Given the description of an element on the screen output the (x, y) to click on. 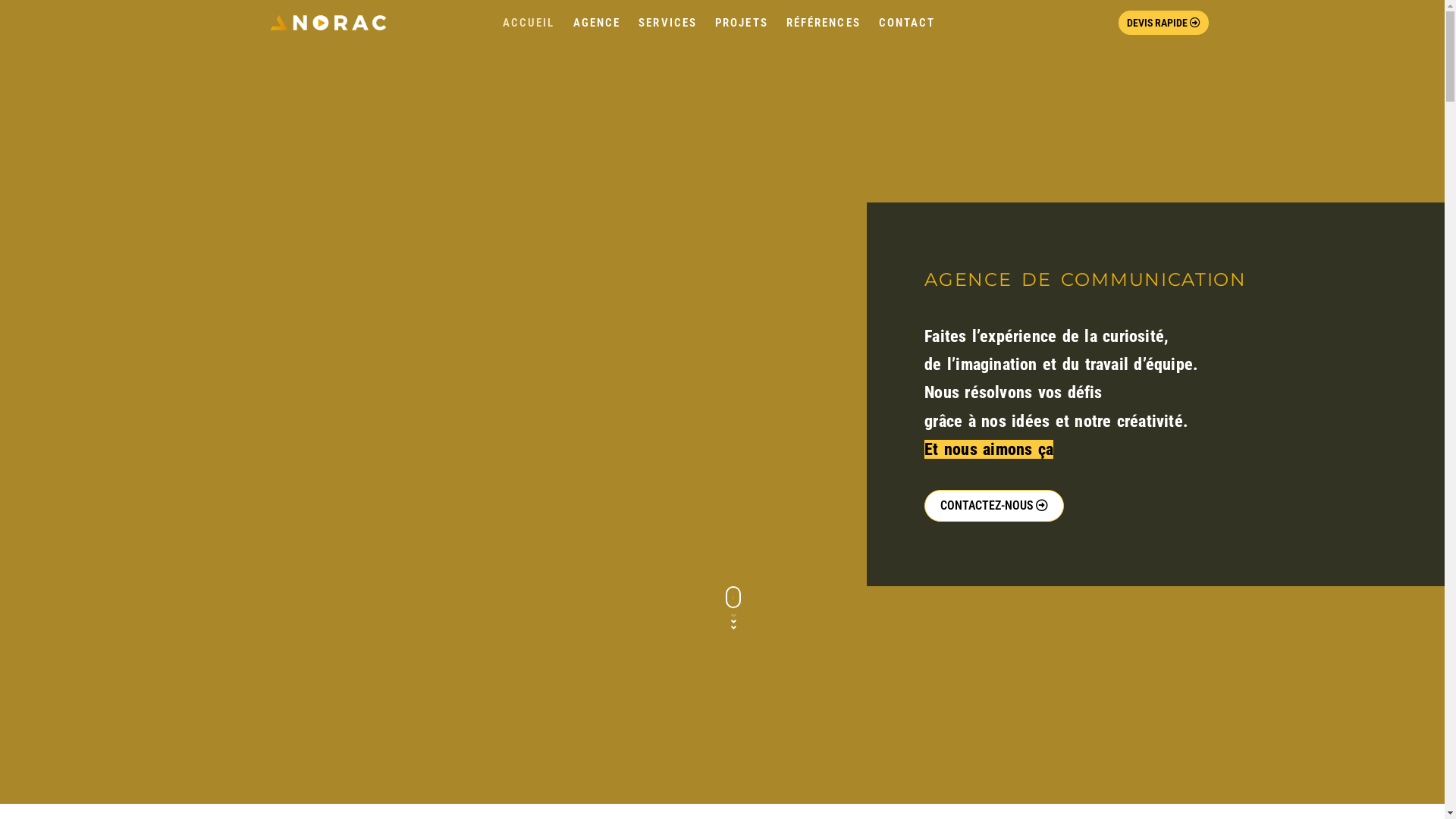
AGENCE Element type: text (596, 23)
DEVIS RAPIDE Element type: text (1163, 22)
PROJETS Element type: text (741, 23)
SERVICES Element type: text (667, 23)
ACCUEIL Element type: text (528, 23)
CONTACT Element type: text (907, 23)
CONTACTEZ-NOUS Element type: text (993, 504)
